Given the description of an element on the screen output the (x, y) to click on. 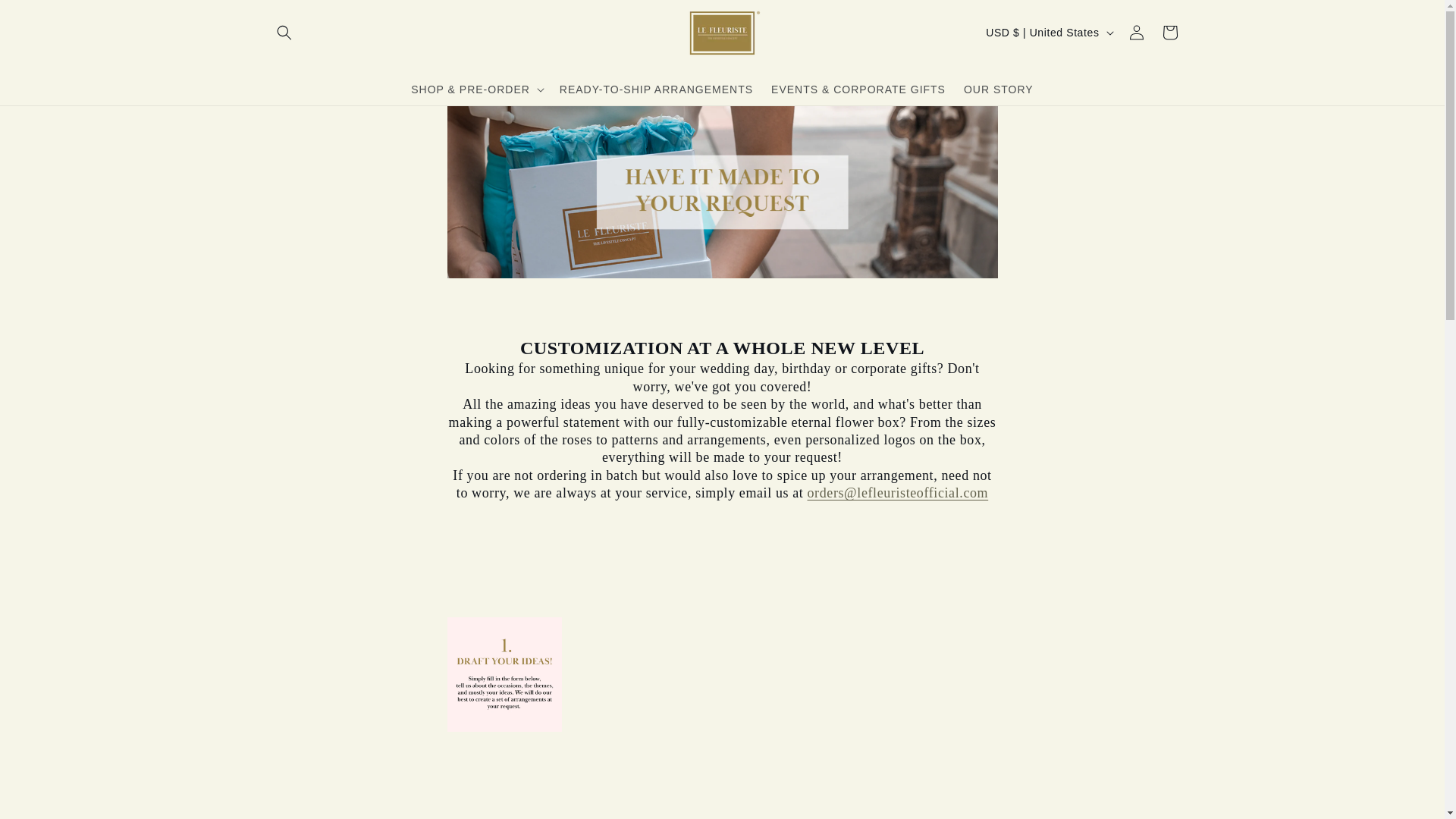
Cart (1169, 32)
OUR STORY (998, 88)
Log in (1136, 32)
Skip to content (45, 17)
READY-TO-SHIP ARRANGEMENTS (655, 88)
